Given the description of an element on the screen output the (x, y) to click on. 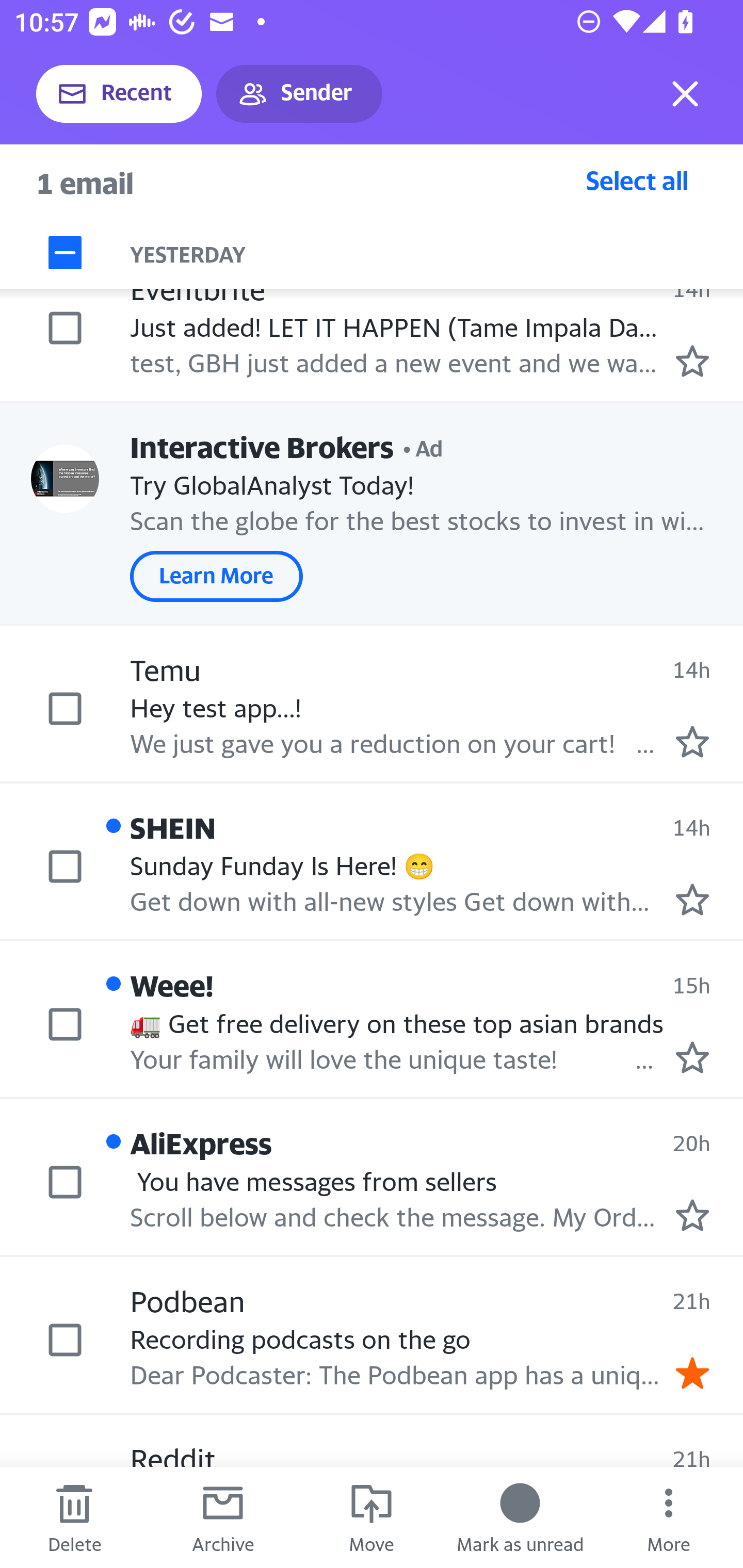
Sender (299, 93)
Exit selection mode (684, 93)
Select all (637, 180)
Mark as starred. (692, 361)
Mark as starred. (692, 742)
Mark as starred. (692, 899)
Mark as starred. (692, 1057)
Mark as starred. (692, 1215)
Remove star. (692, 1372)
Delete (74, 1517)
Archive (222, 1517)
Move (371, 1517)
Mark as unread (519, 1517)
More (668, 1517)
